Given the description of an element on the screen output the (x, y) to click on. 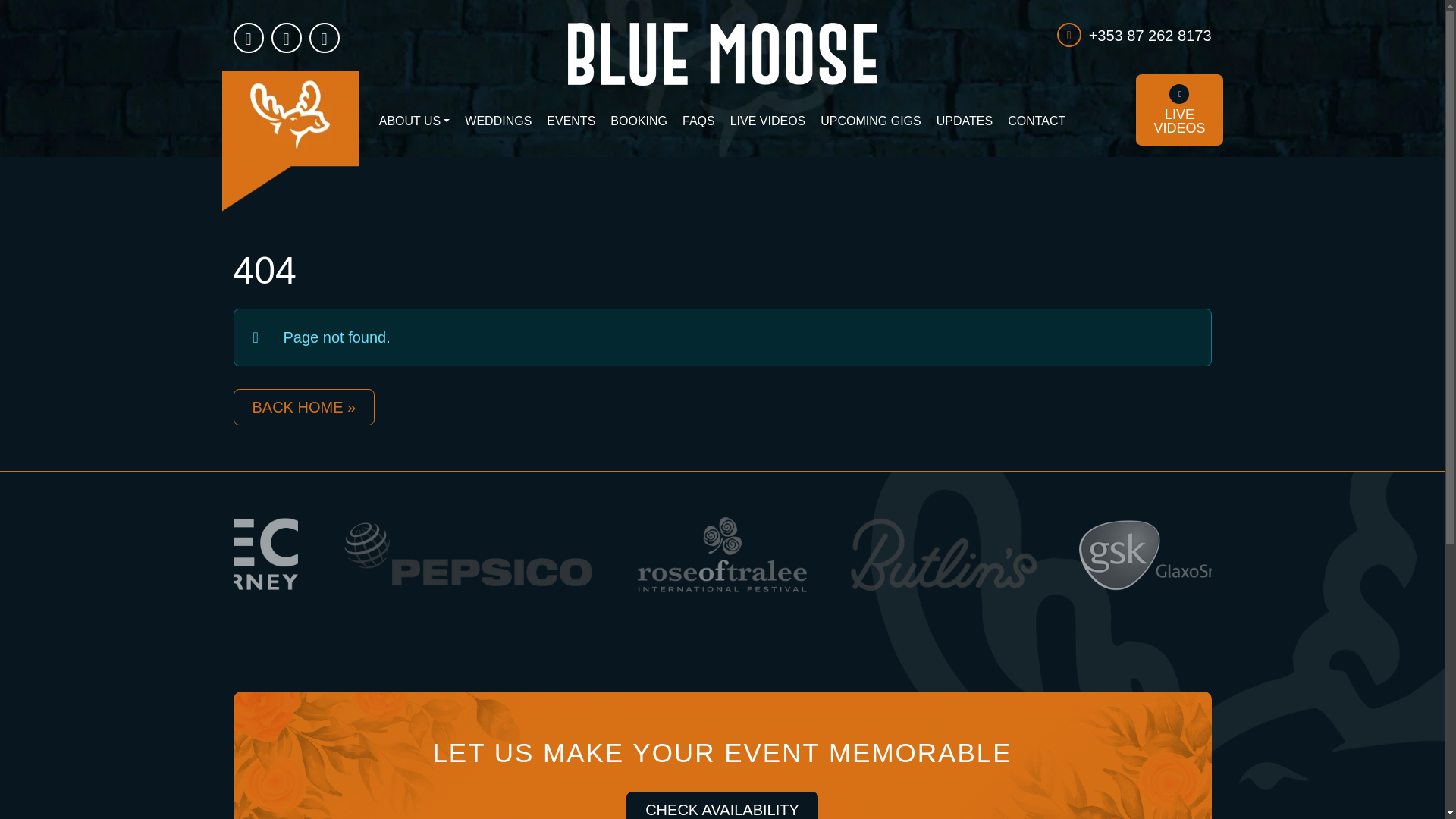
CONTACT (1036, 120)
EVENTS (570, 120)
BOOKING (638, 120)
UPCOMING GIGS (870, 120)
instagram (247, 37)
youtube (323, 37)
WEDDINGS (497, 120)
LIVE VIDEOS (767, 120)
UPDATES (964, 120)
FAQS (698, 120)
ABOUT US (414, 120)
CHECK AVAILABILITY (1179, 109)
tiktok (722, 805)
